Given the description of an element on the screen output the (x, y) to click on. 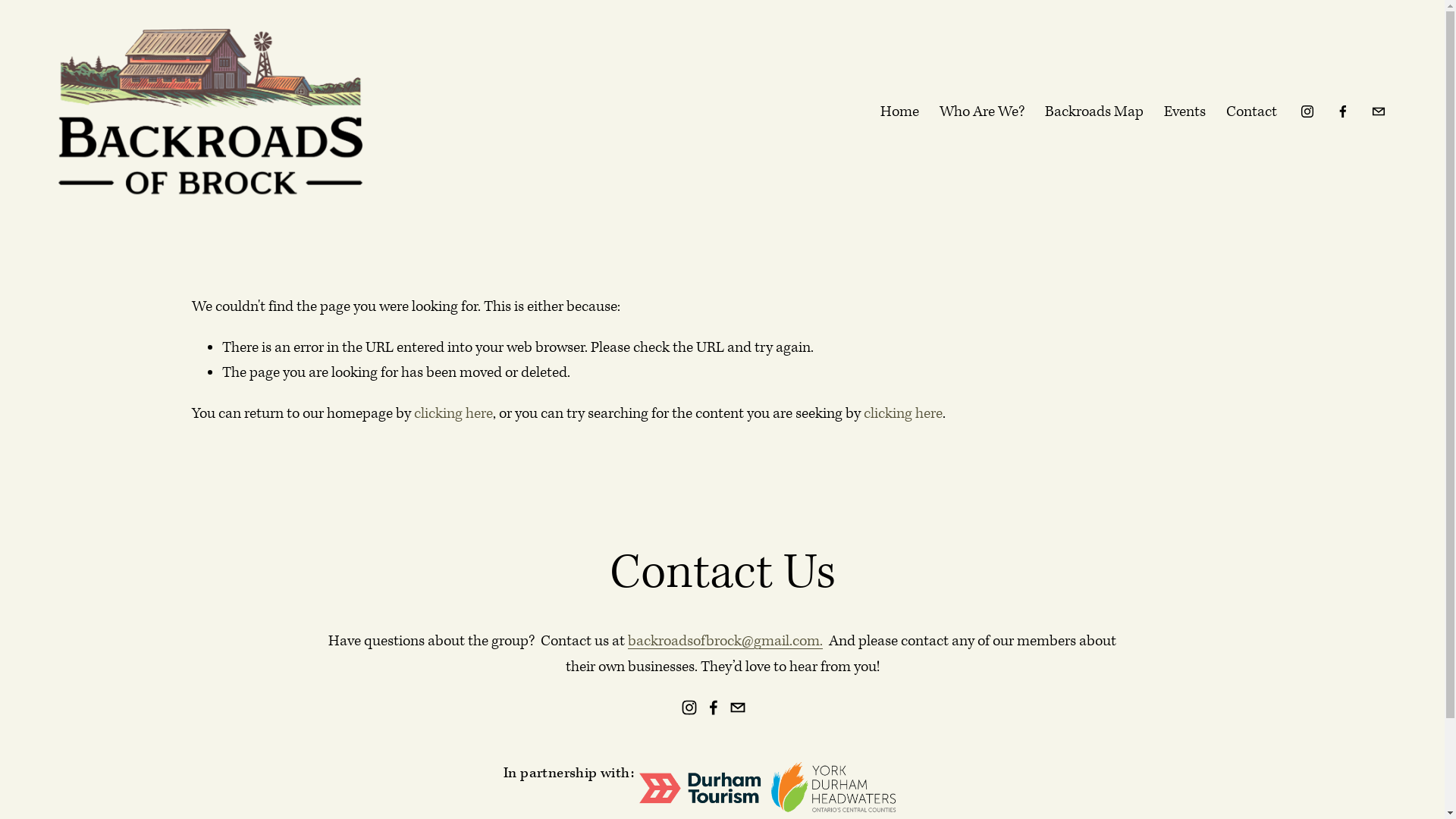
Events Element type: text (1184, 111)
Backroads Map Element type: text (1093, 111)
Contact Element type: text (1251, 111)
clicking here Element type: text (901, 413)
clicking here Element type: text (453, 413)
Home Element type: text (899, 111)
Who Are We? Element type: text (981, 111)
backroadsofbrock@gmail.com. Element type: text (724, 640)
